Given the description of an element on the screen output the (x, y) to click on. 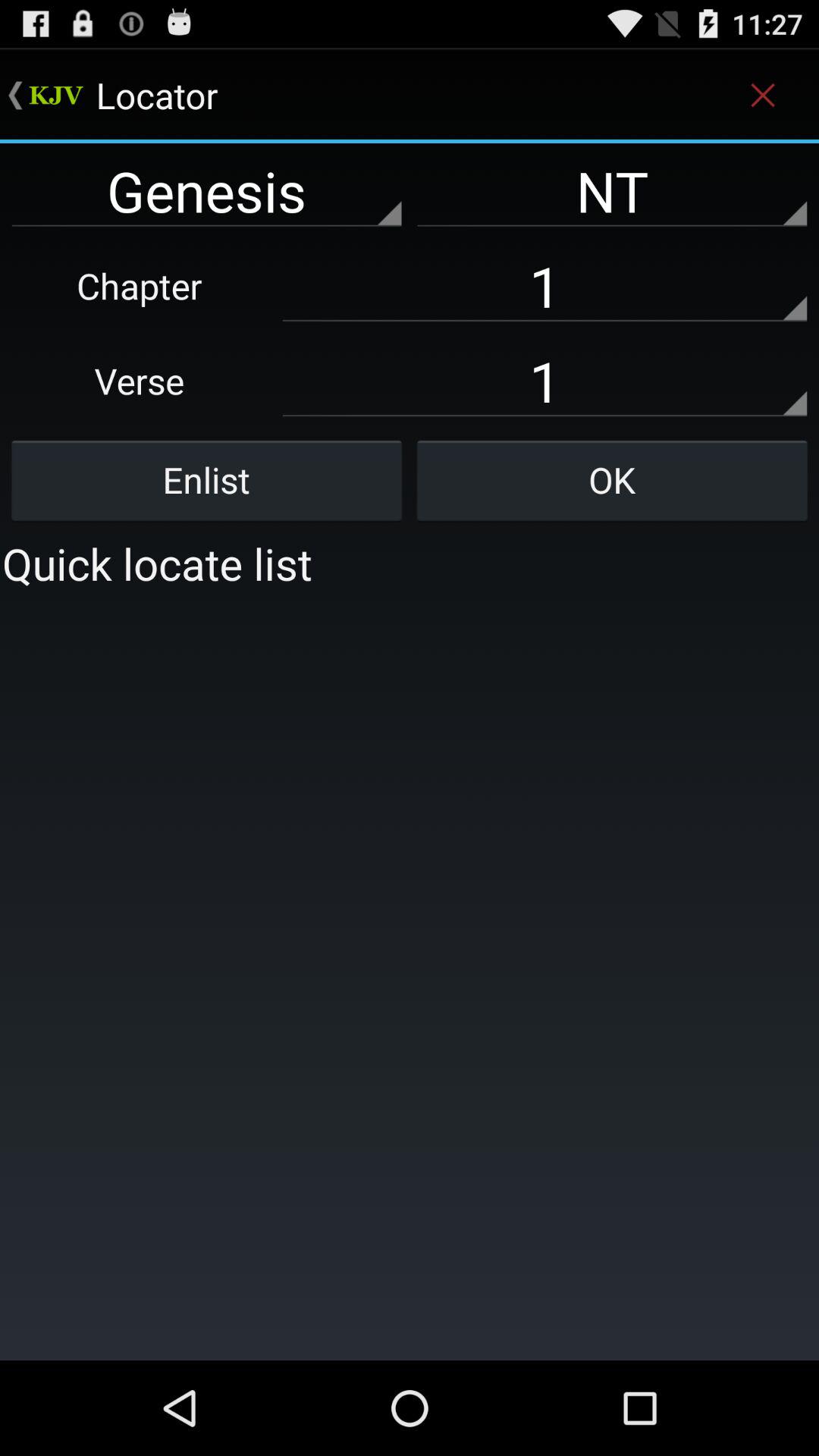
choose item below 1 item (612, 479)
